Given the description of an element on the screen output the (x, y) to click on. 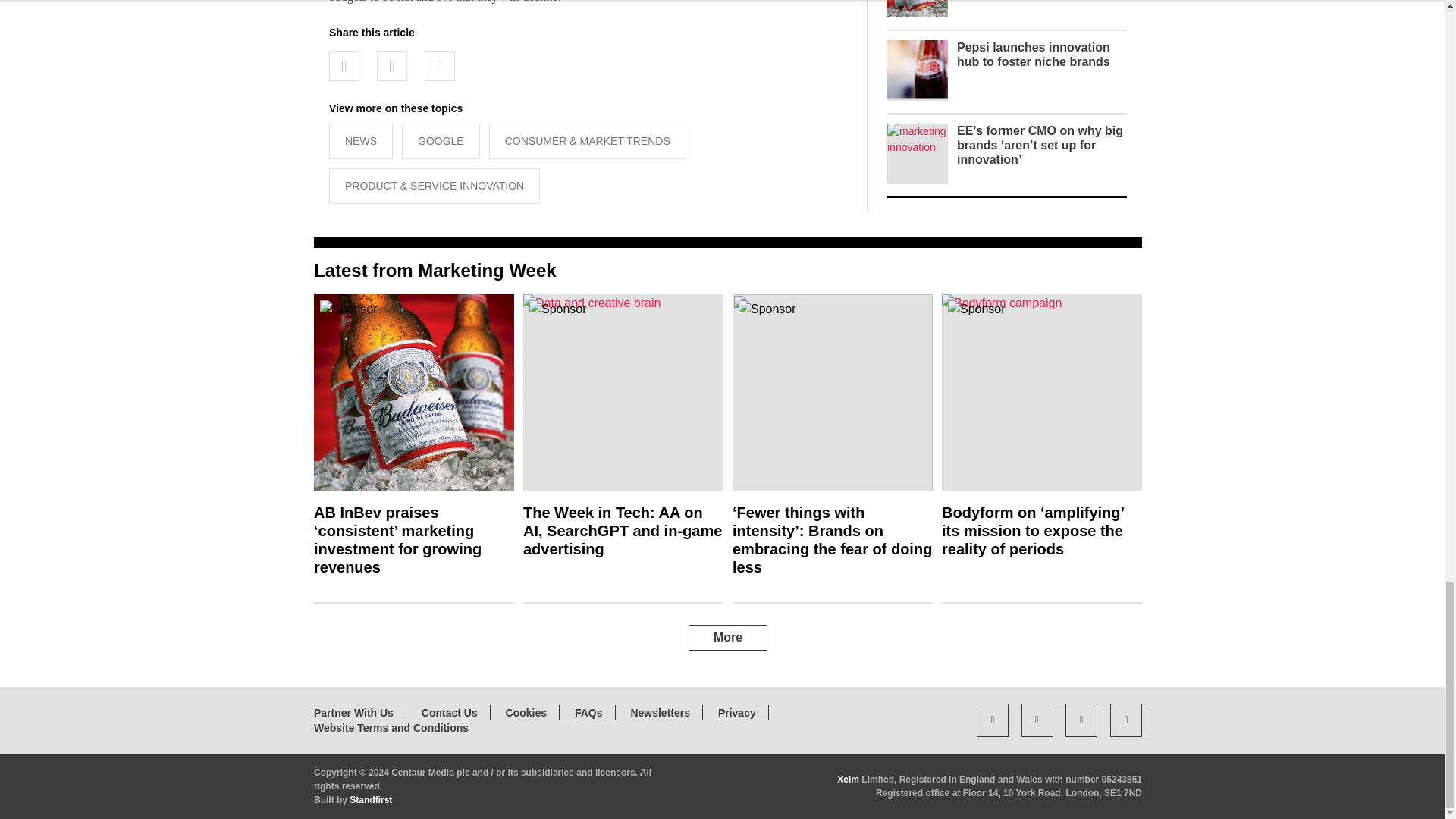
Privacy (736, 712)
GOOGLE (440, 140)
NEWS (361, 140)
